Given the description of an element on the screen output the (x, y) to click on. 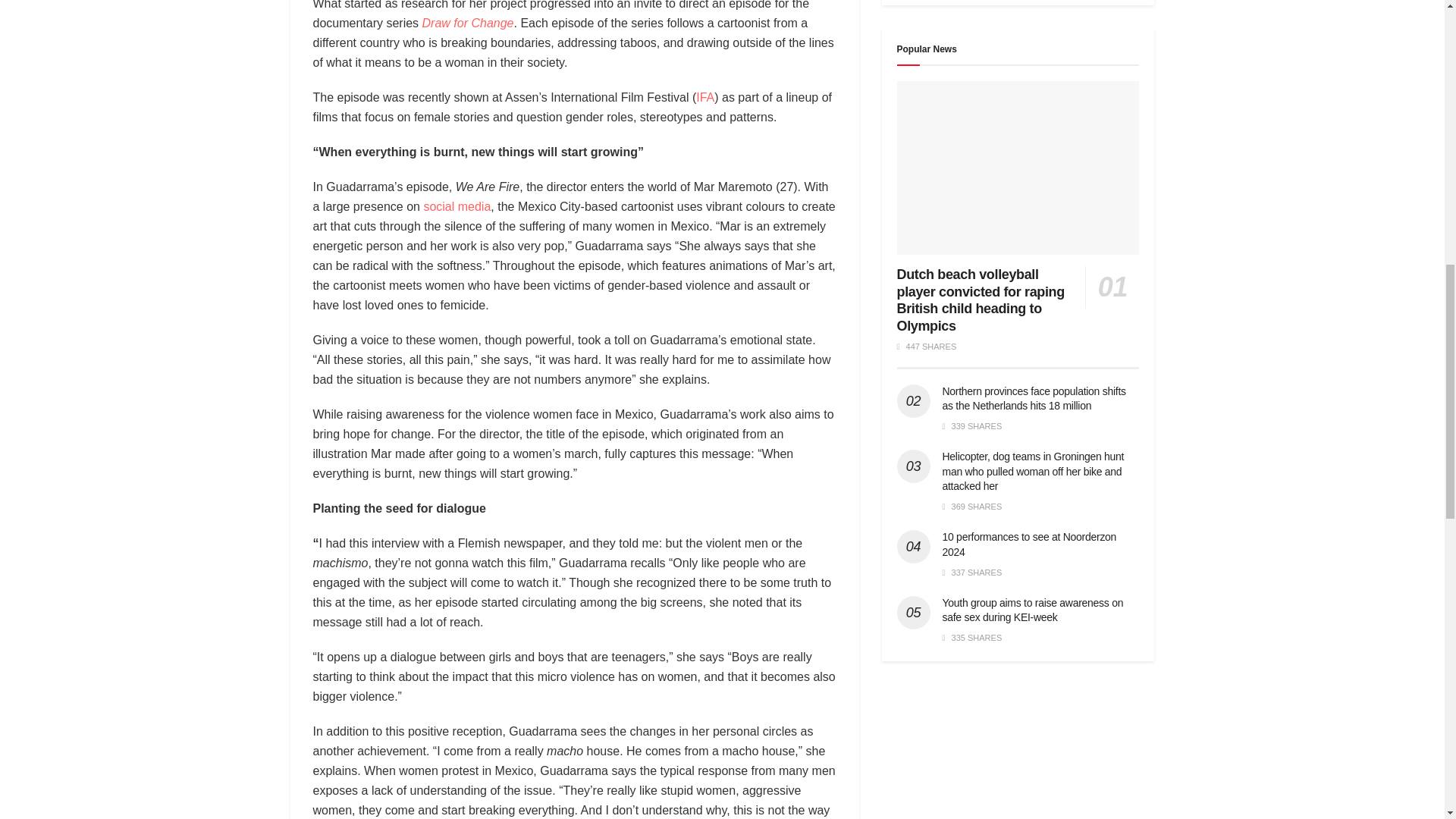
social media (456, 205)
IFA (704, 97)
Draw for Change (467, 22)
